Given the description of an element on the screen output the (x, y) to click on. 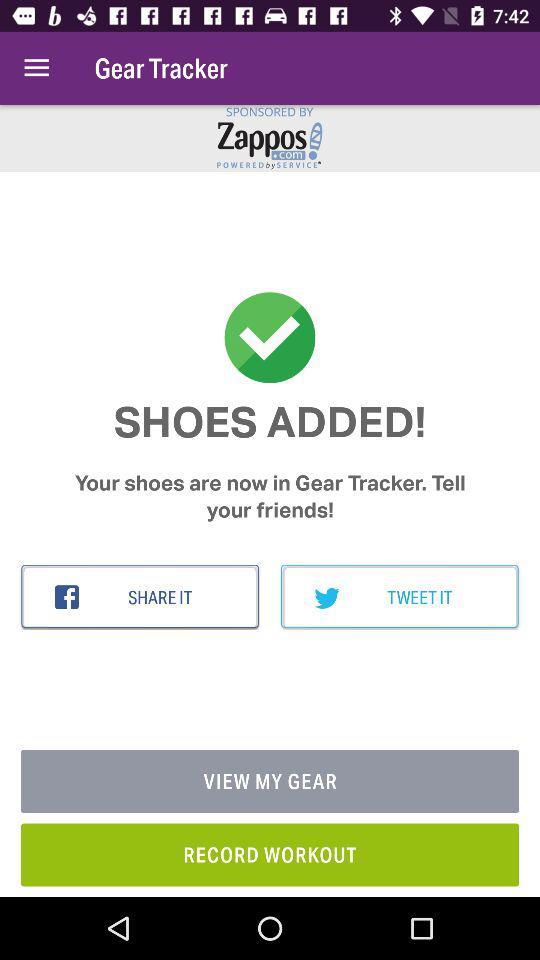
tap item below your shoes are (140, 597)
